Given the description of an element on the screen output the (x, y) to click on. 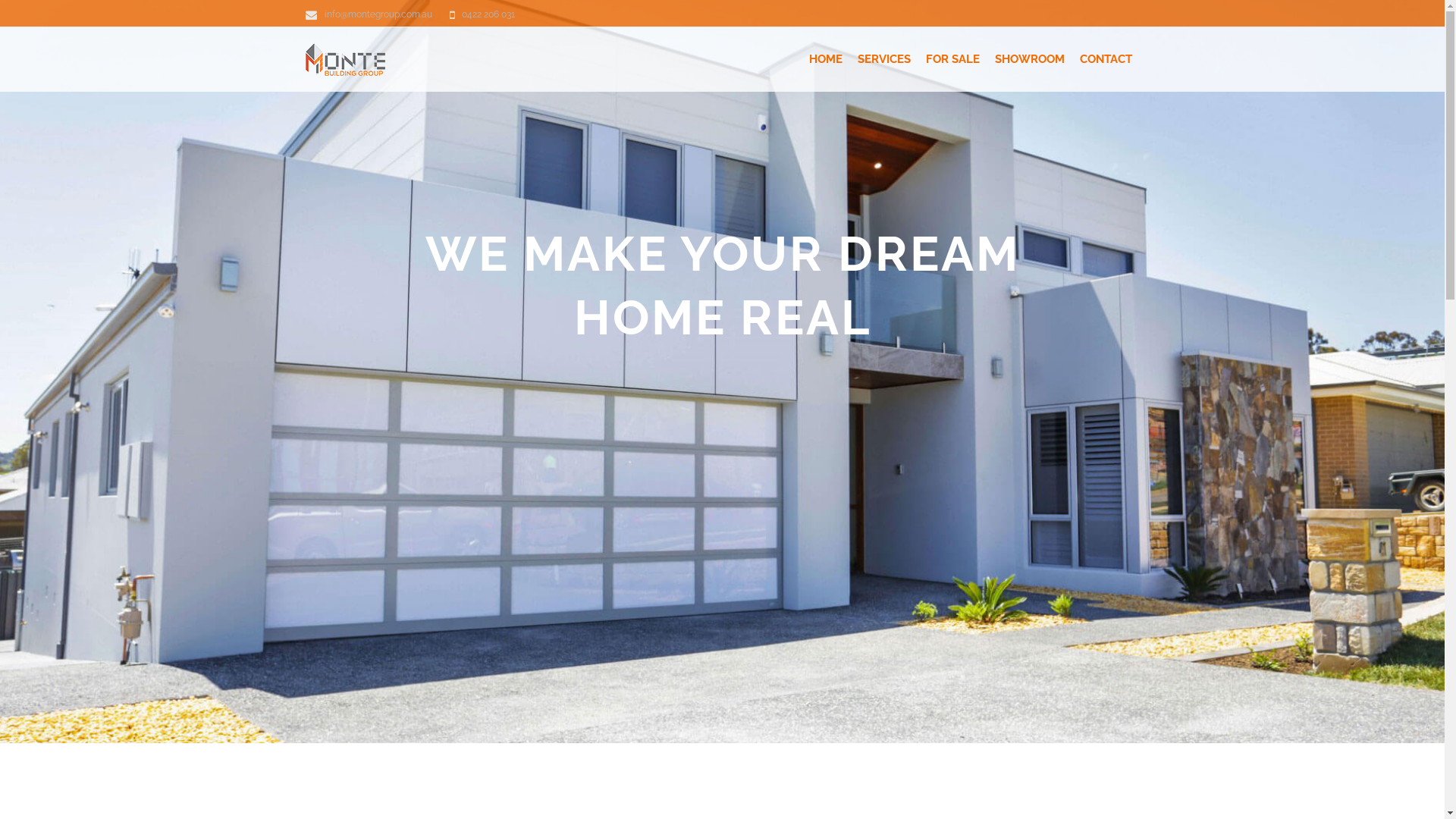
FOR SALE Element type: text (951, 59)
CONTACT Element type: text (1105, 59)
SERVICES Element type: text (883, 59)
HOME Element type: text (824, 59)
SHOWROOM Element type: text (1029, 59)
